Given the description of an element on the screen output the (x, y) to click on. 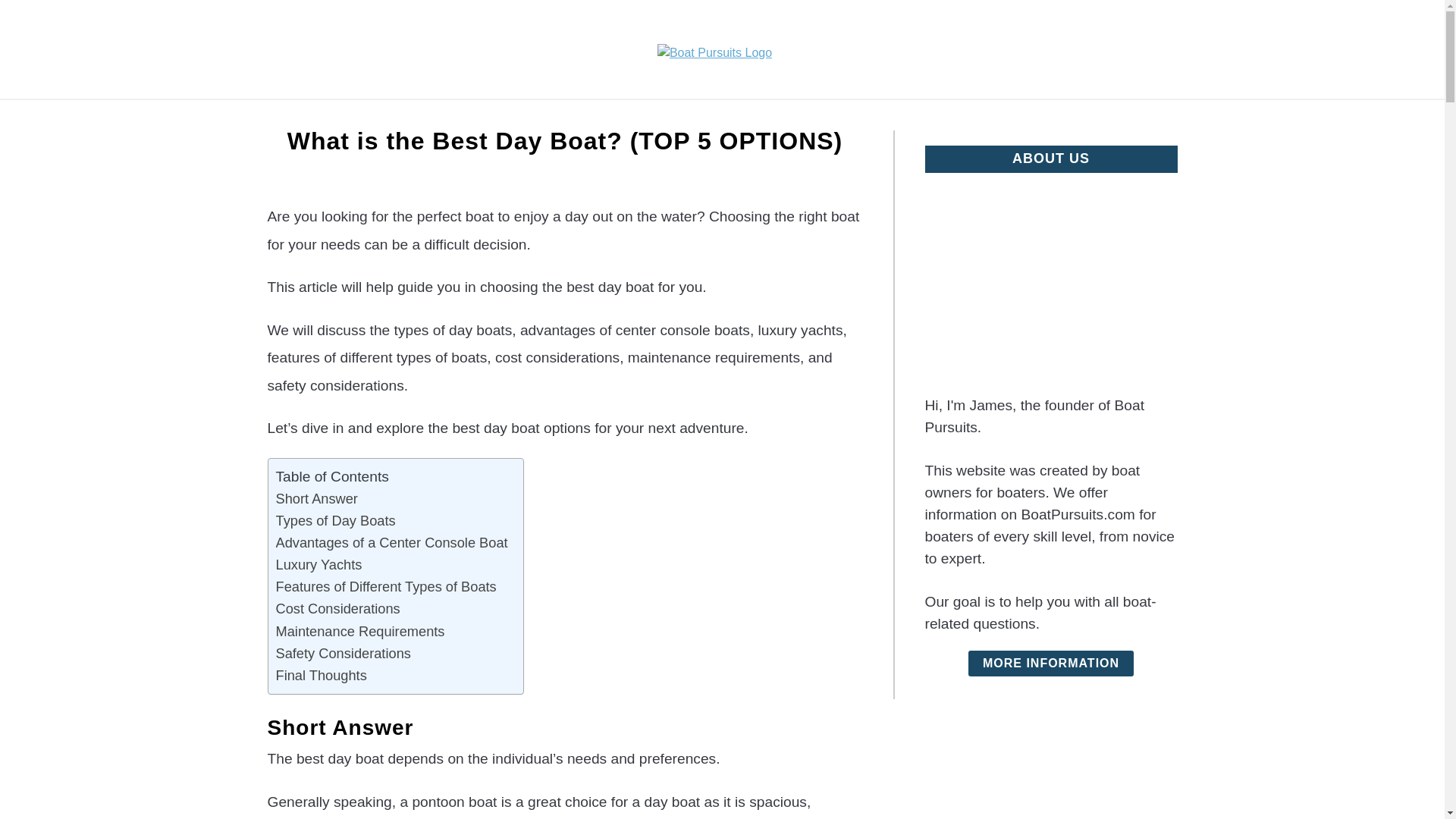
FISHING BOATS (382, 117)
Safety Considerations (343, 653)
Maintenance Requirements (360, 630)
Final Thoughts (321, 675)
YACHTS (492, 117)
Types of Day Boats (336, 520)
Luxury Yachts (319, 564)
Advantages of a Center Console Boat (392, 542)
Safety Considerations (343, 653)
BOAT GUIDES (847, 117)
LIFEBOATS (1077, 117)
Luxury Yachts (319, 564)
Cost Considerations (338, 608)
Features of Different Types of Boats (386, 586)
Advantages of a Center Console Boat (392, 542)
